Given the description of an element on the screen output the (x, y) to click on. 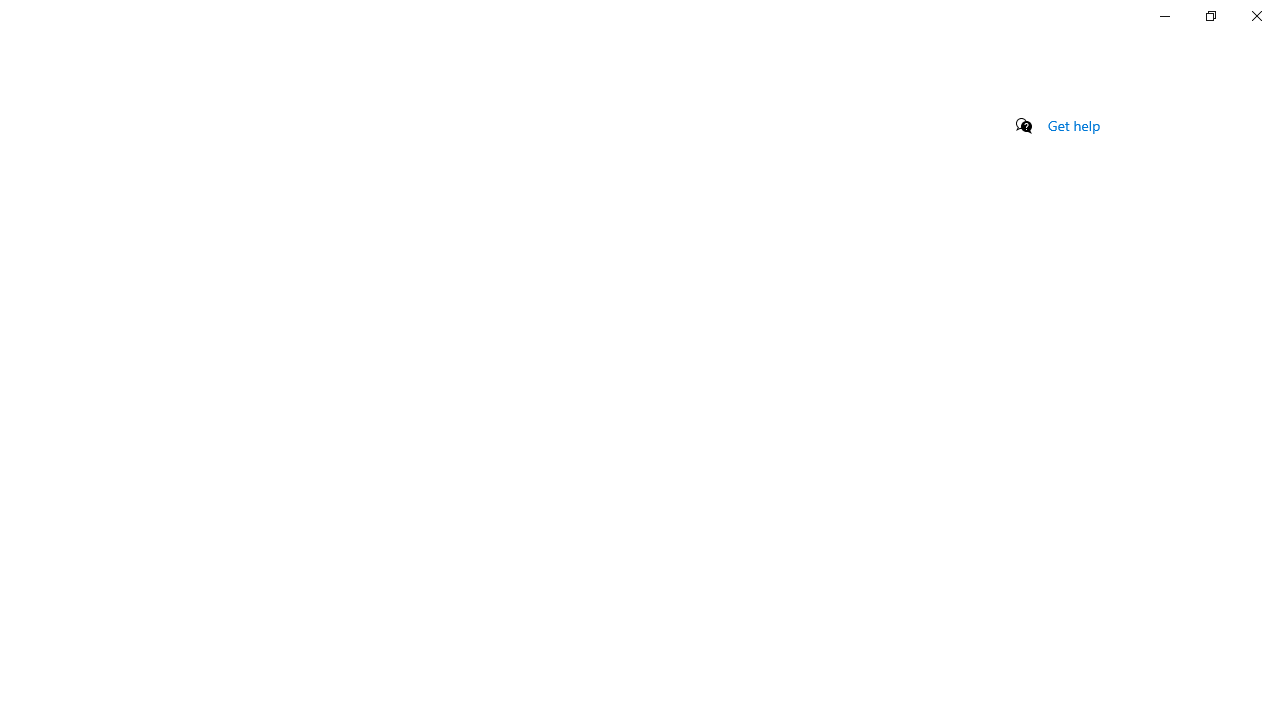
Restore Settings (1210, 15)
Minimize Settings (1164, 15)
Get help (1074, 125)
Close Settings (1256, 15)
